Given the description of an element on the screen output the (x, y) to click on. 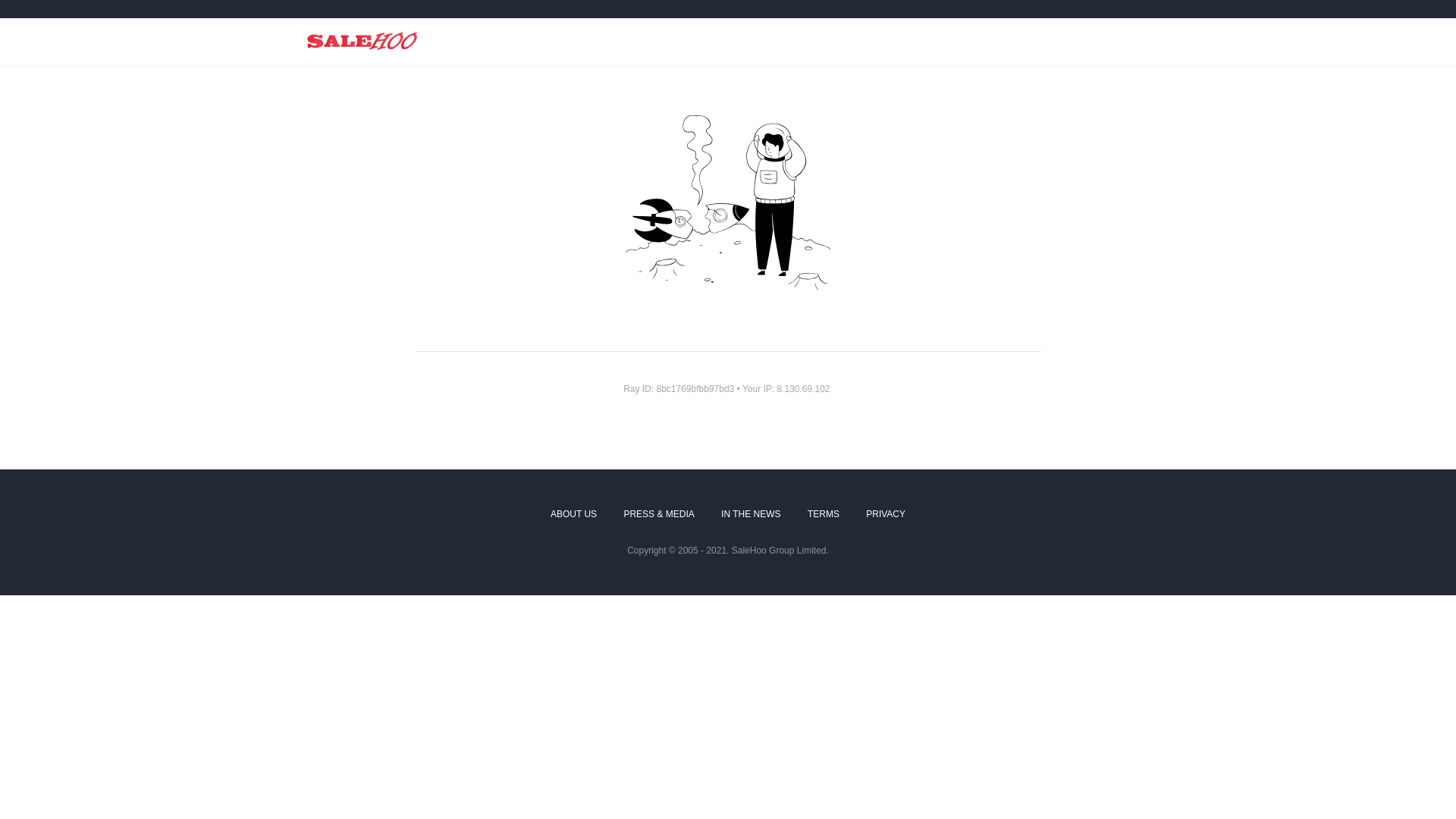
ABOUT US (573, 514)
PRIVACY (885, 514)
IN THE NEWS (750, 514)
TERMS (824, 514)
